Given the description of an element on the screen output the (x, y) to click on. 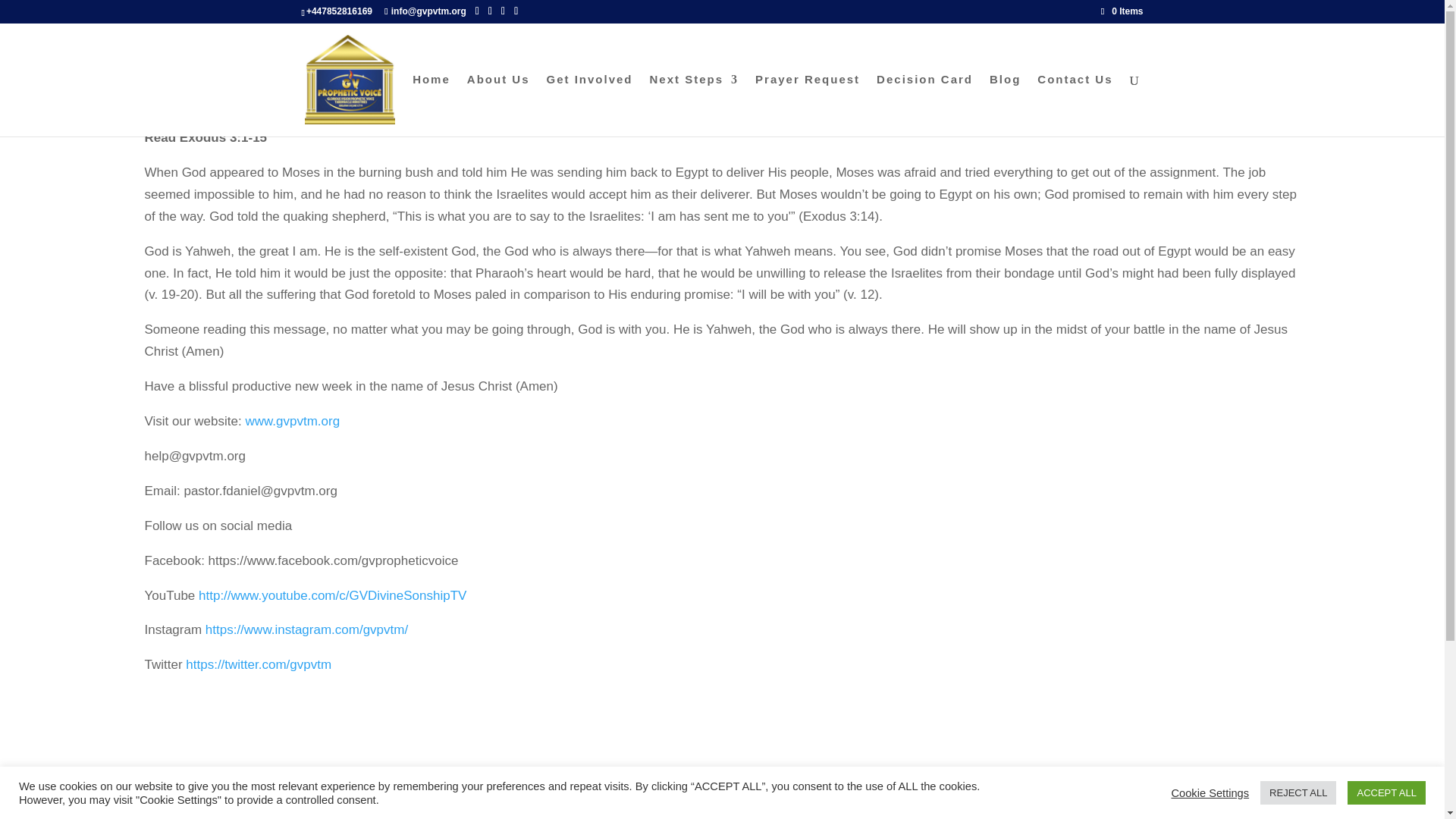
About Us (498, 105)
Get Involved (588, 105)
0 Items (1121, 10)
Next Steps (694, 105)
www.gvpvtm.org (291, 421)
Prayer Request (807, 105)
Decision Card (924, 105)
Contact Us (1074, 105)
